Given the description of an element on the screen output the (x, y) to click on. 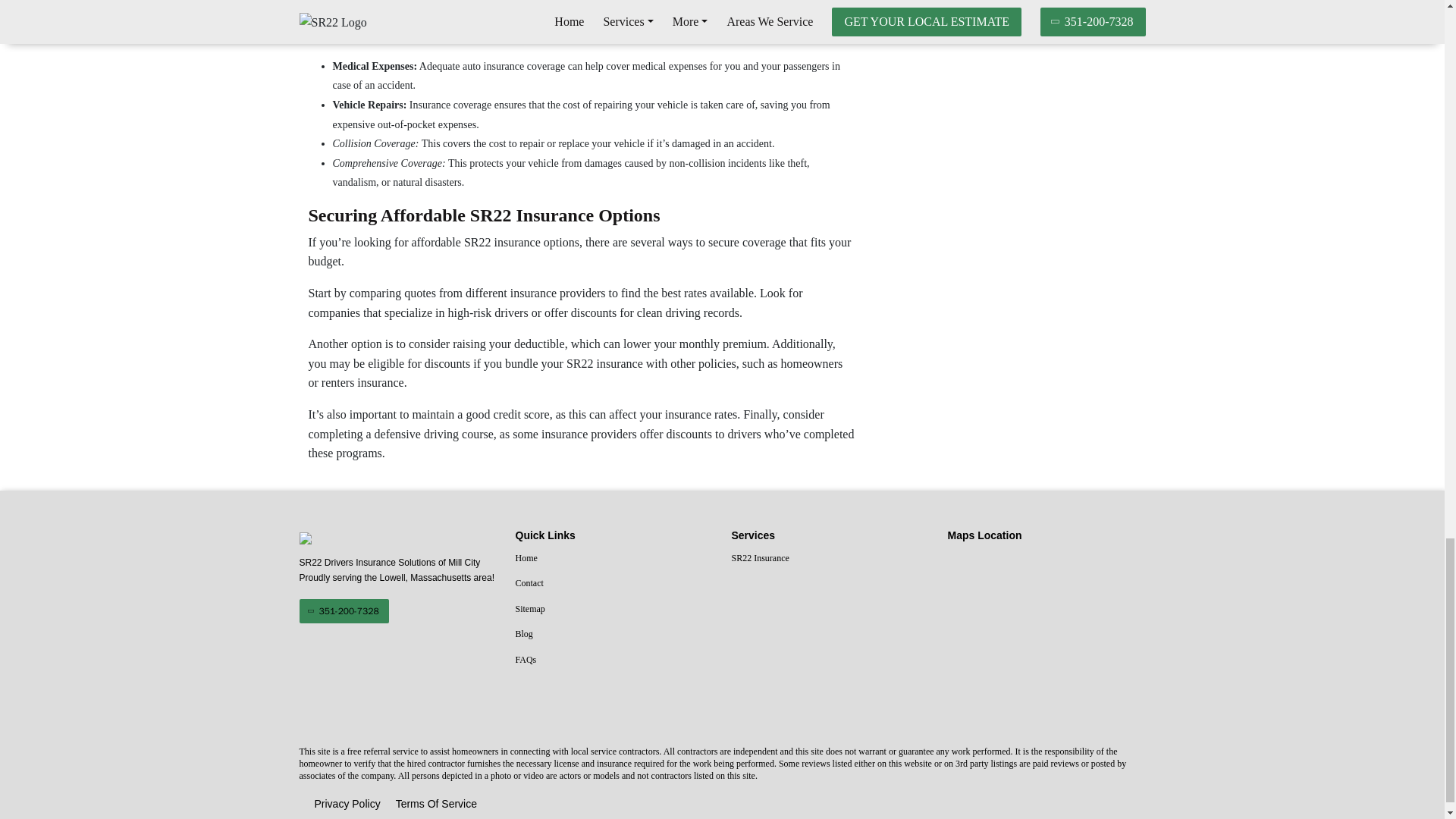
Sitemap (614, 609)
Blog (614, 634)
Privacy Policy (347, 804)
Terms Of Service (436, 804)
FAQs (614, 660)
SR22 Insurance (829, 558)
351-200-7328 (343, 610)
Contact (614, 583)
Home (614, 558)
